Given the description of an element on the screen output the (x, y) to click on. 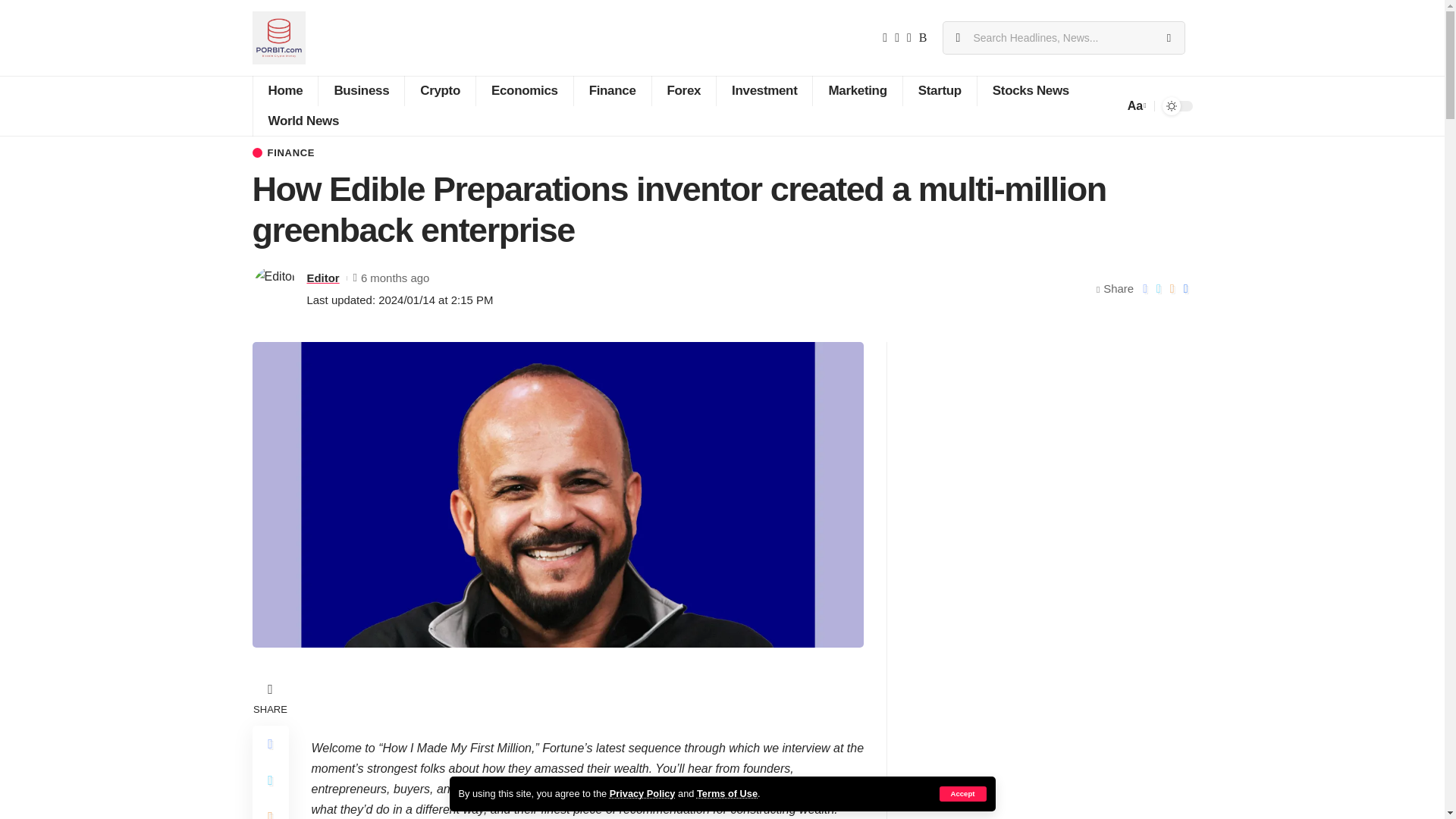
Privacy Policy (642, 793)
Stocks News (1030, 91)
Aa (1135, 105)
Go to Moneyd. (266, 126)
Accept (962, 793)
Startup (939, 91)
Forex (683, 91)
Marketing (856, 91)
Terms of Use (727, 793)
Economics (524, 91)
Finance (611, 91)
World News (302, 121)
Investment (764, 91)
Go to the Finance Category archives. (303, 126)
Search (1168, 37)
